Given the description of an element on the screen output the (x, y) to click on. 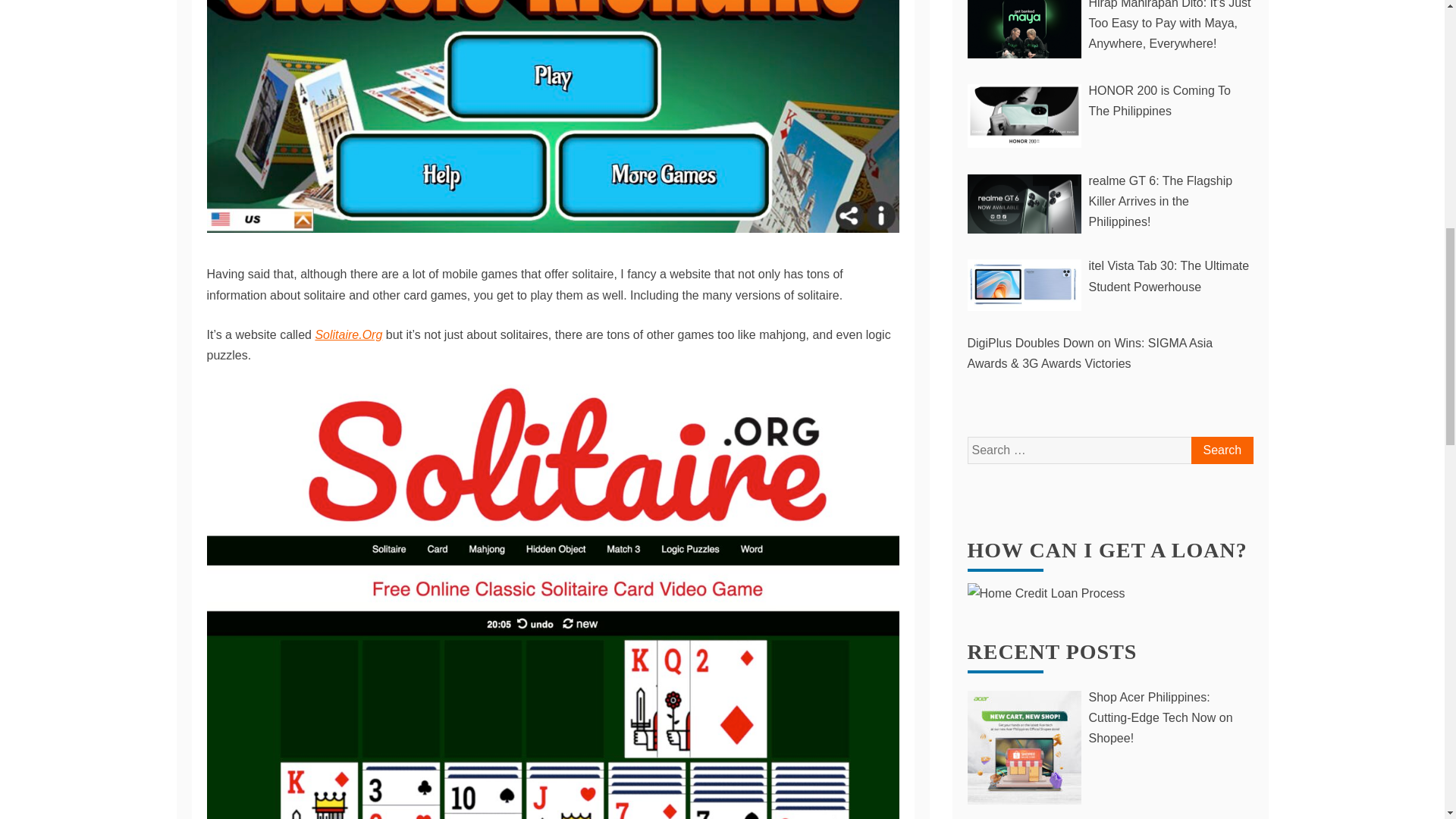
Solitaire.Org (347, 334)
Search (1221, 450)
Search (1221, 450)
